Given the description of an element on the screen output the (x, y) to click on. 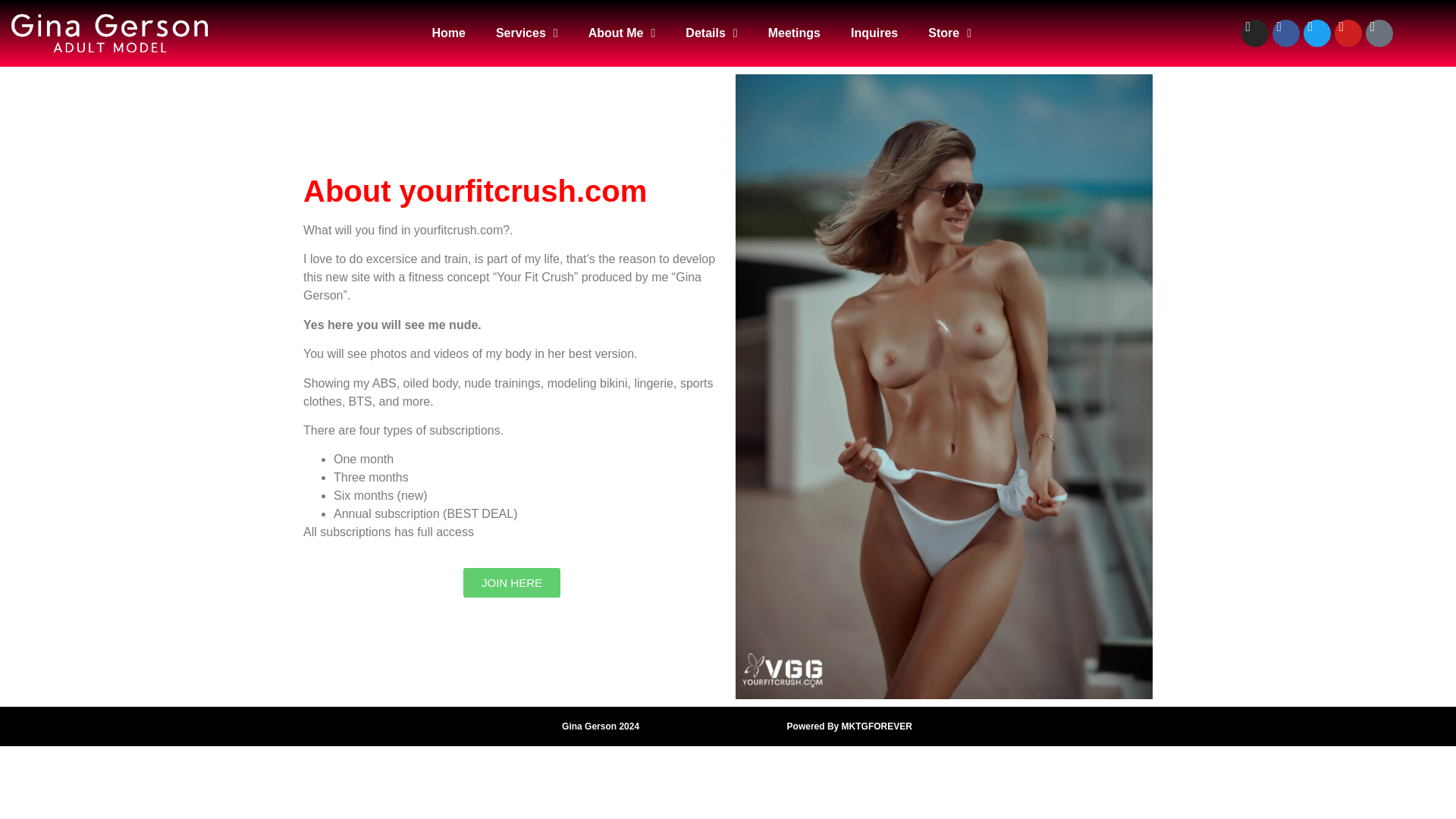
Details (710, 32)
Services (526, 32)
About Me (622, 32)
Inquires (873, 32)
Store (949, 32)
Home (448, 32)
Meetings (793, 32)
